Given the description of an element on the screen output the (x, y) to click on. 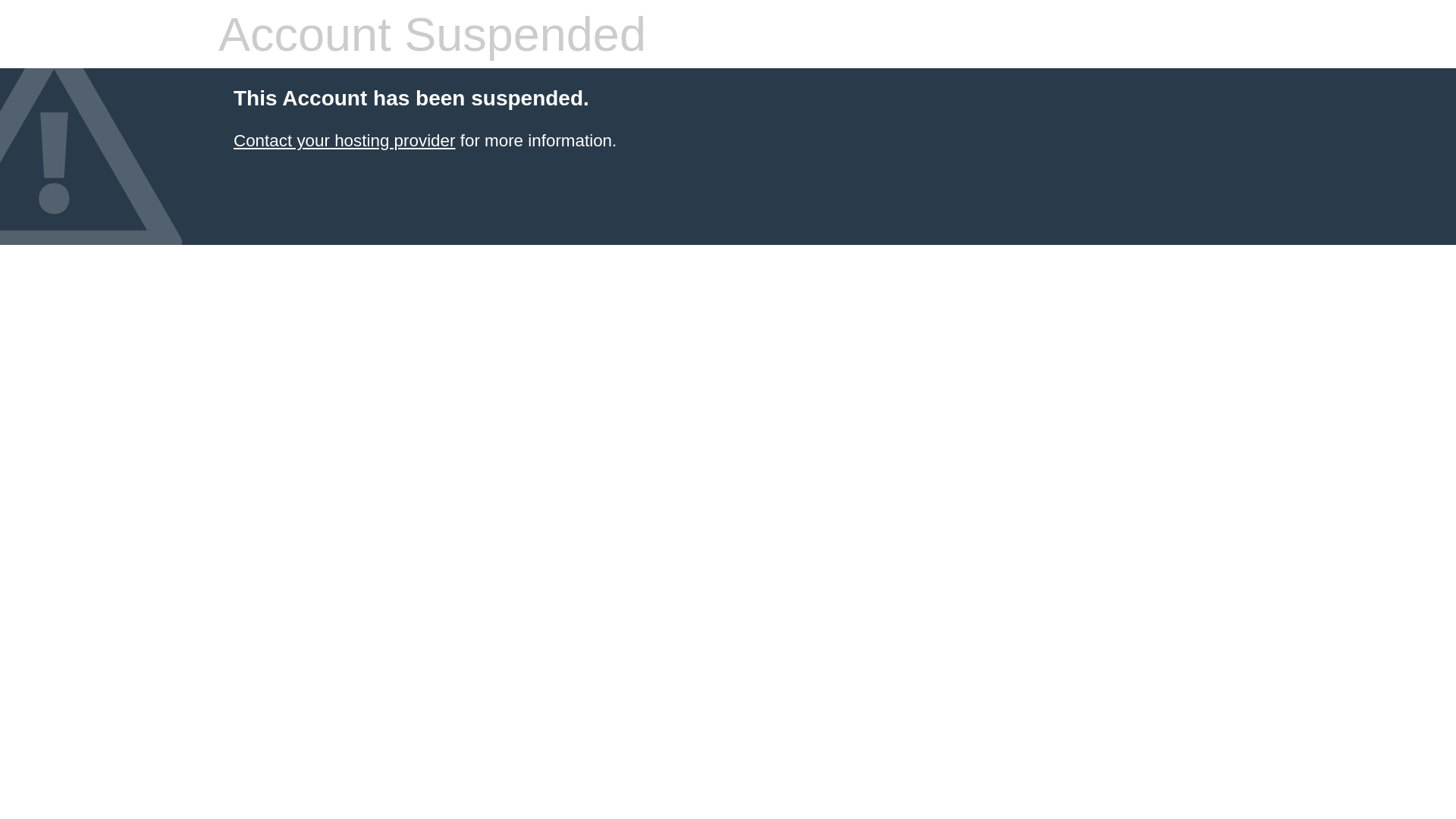
Contact your hosting provider Element type: text (344, 140)
